Given the description of an element on the screen output the (x, y) to click on. 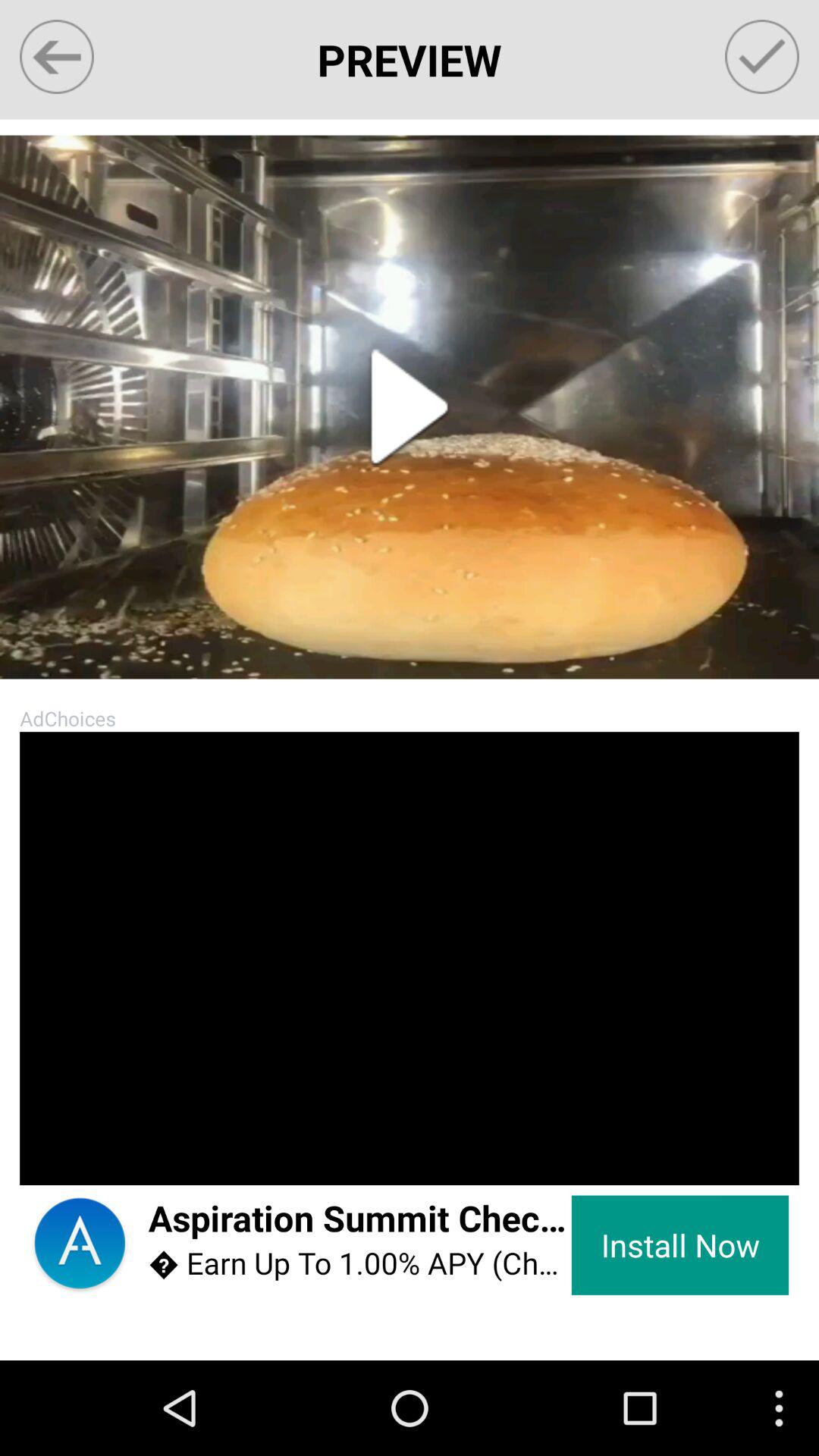
tap item below the aspiration summit checking icon (359, 1263)
